Given the description of an element on the screen output the (x, y) to click on. 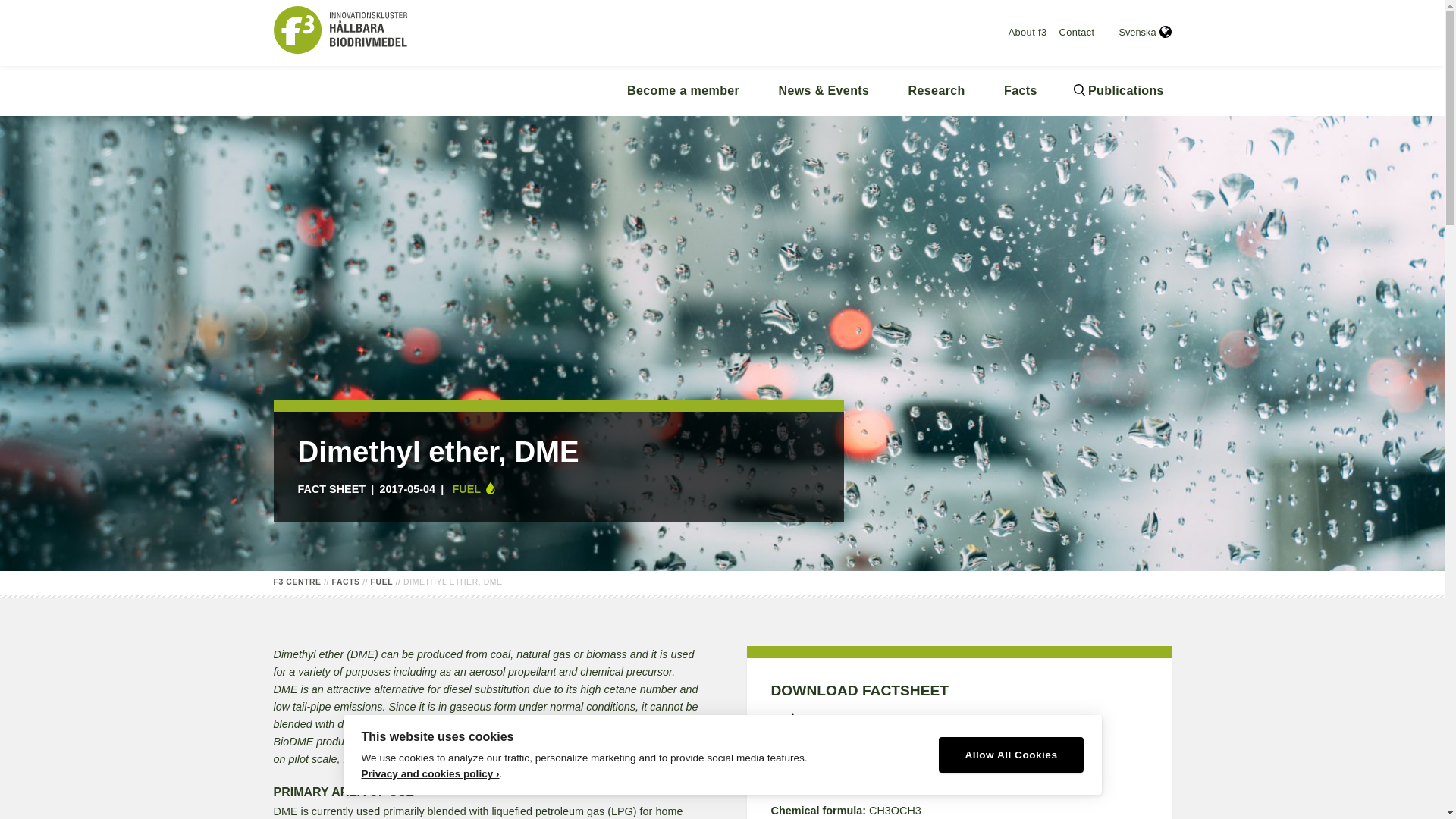
Dimethyl Ether. DME (958, 726)
Publications (1119, 90)
Allow All Cookies (1011, 755)
Contact (1076, 31)
FACTS (345, 582)
Go to Facts. (345, 582)
FUEL (382, 582)
Go to the Fuel Faktabladskategori archives. (382, 582)
Svenska (1144, 32)
F3 CENTRE (296, 582)
Research (936, 90)
About f3 (1027, 31)
Become a member (682, 90)
Facts (1019, 90)
Go to f3 centre. (296, 582)
